Given the description of an element on the screen output the (x, y) to click on. 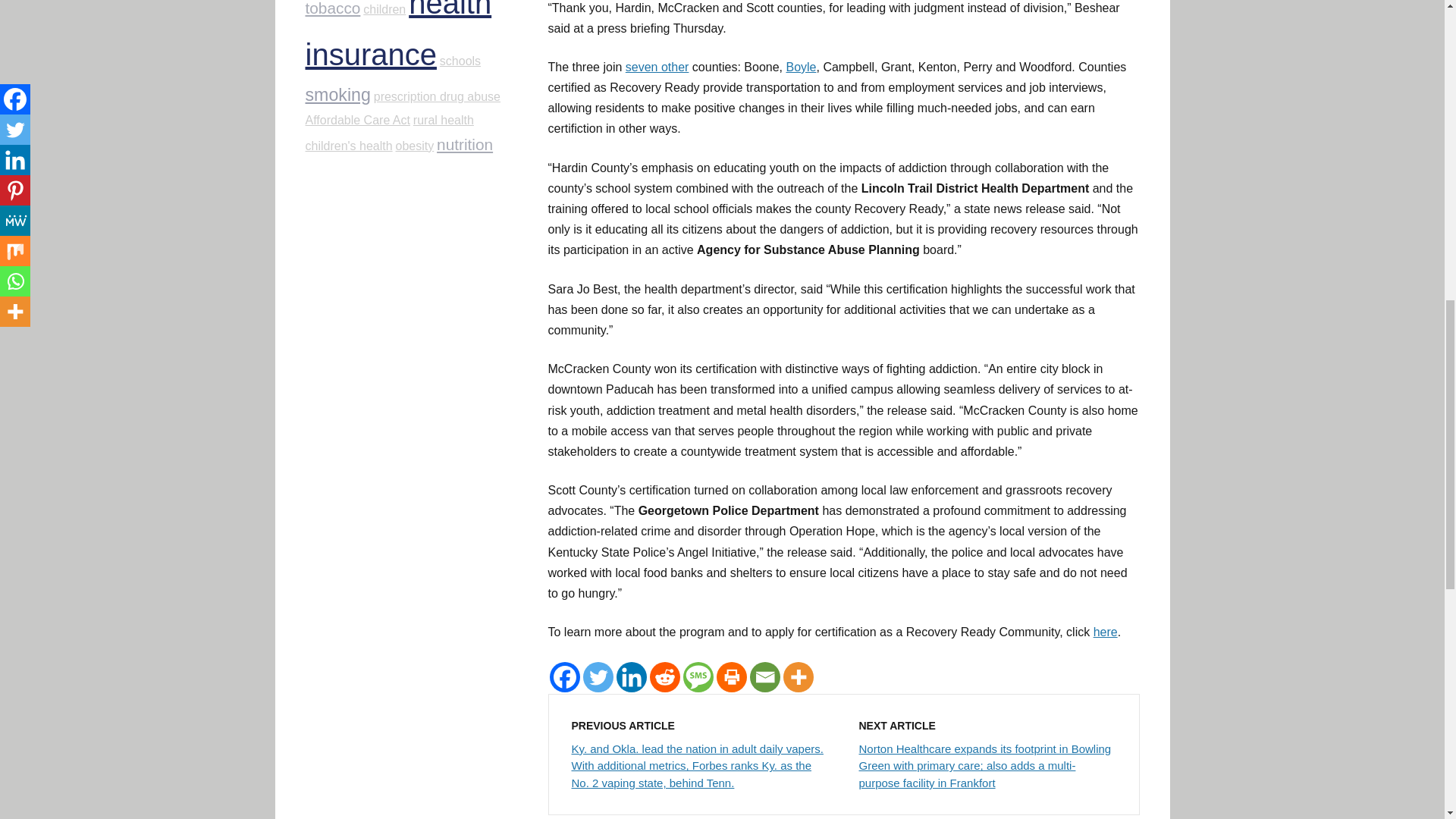
Print (730, 676)
Facebook (563, 676)
Twitter (597, 676)
Reddit (664, 676)
More (797, 676)
seven other (657, 66)
Email (763, 676)
SMS (697, 676)
Boyle (800, 66)
here (1105, 631)
Linkedin (630, 676)
